Given the description of an element on the screen output the (x, y) to click on. 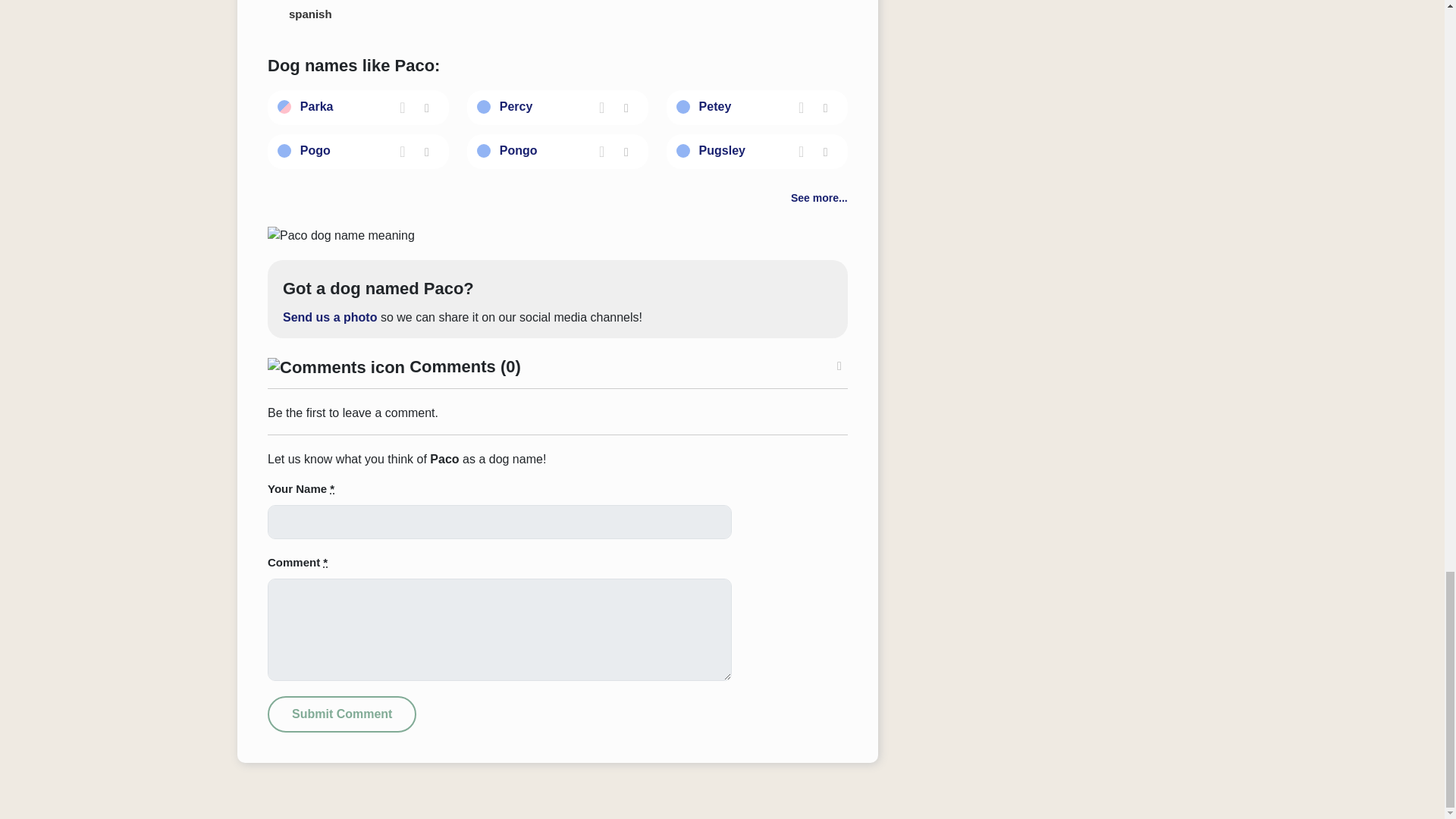
See more... (818, 197)
Parka (316, 106)
spanish (309, 17)
Send us a photo (329, 317)
Pugsley (721, 150)
Pongo (518, 150)
Submit Comment (341, 714)
Pogo (314, 150)
Percy (515, 106)
Petey (715, 106)
